Given the description of an element on the screen output the (x, y) to click on. 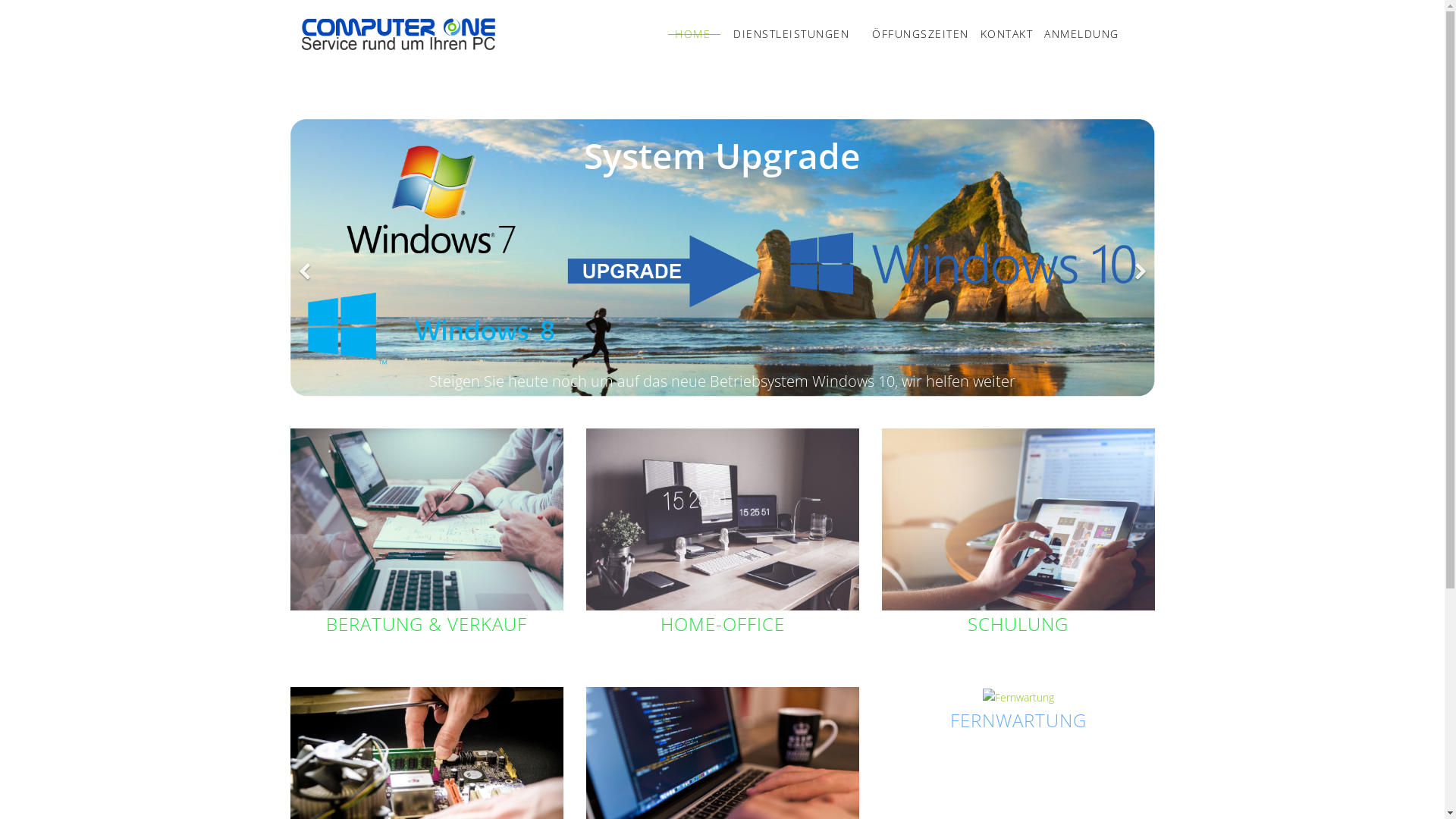
KONTAKT Element type: text (1001, 34)
Schulung Element type: hover (1017, 519)
DIENSTLEISTUNGEN Element type: text (790, 34)
Home-Office Element type: hover (721, 519)
HOME Element type: text (692, 34)
Fernwartung Element type: hover (1018, 697)
Beratung & Verkauf Element type: hover (425, 519)
ANMELDUNG Element type: text (1075, 34)
